Given the description of an element on the screen output the (x, y) to click on. 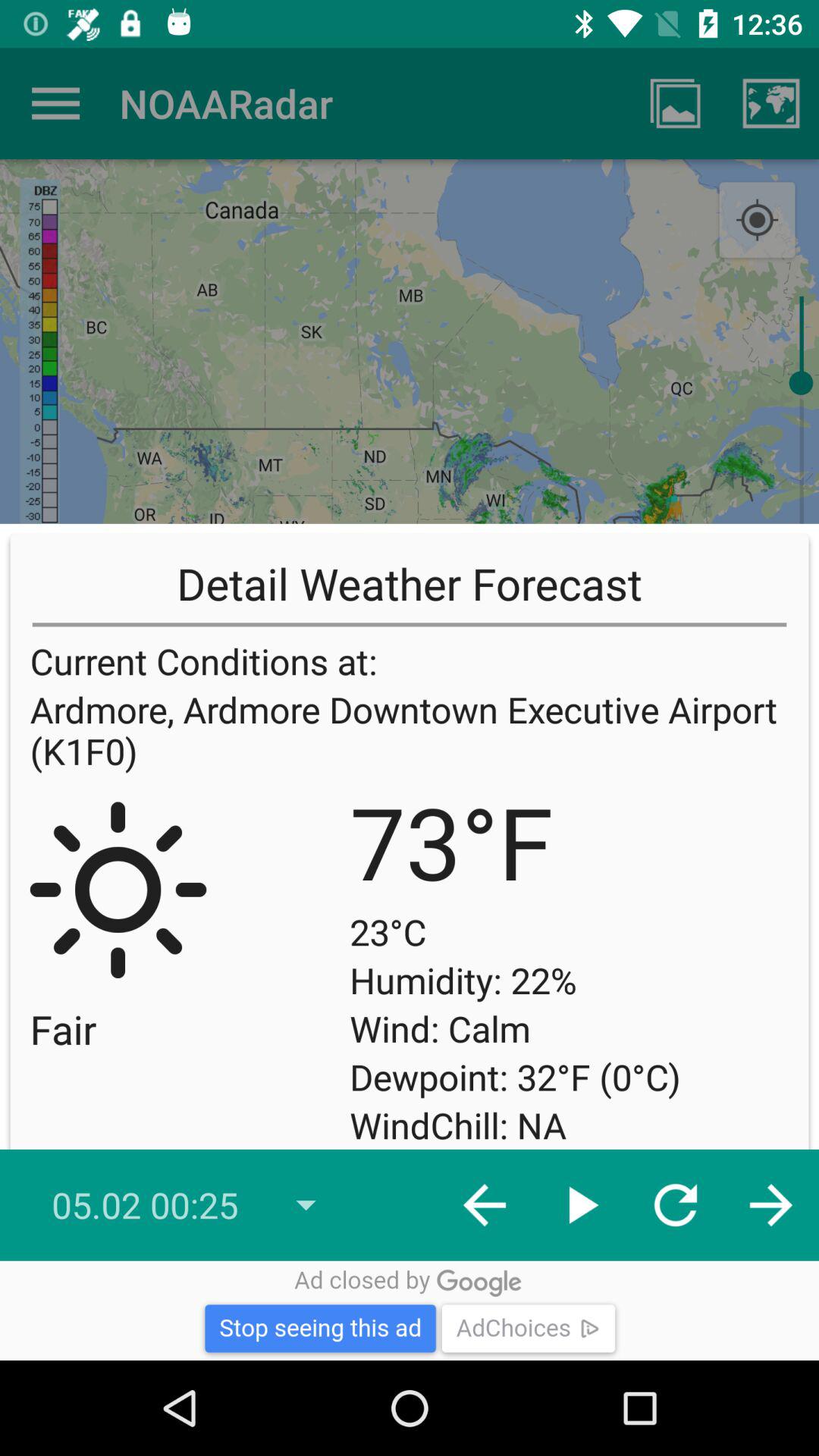
press icon to the left of noaaradar app (55, 103)
